Given the description of an element on the screen output the (x, y) to click on. 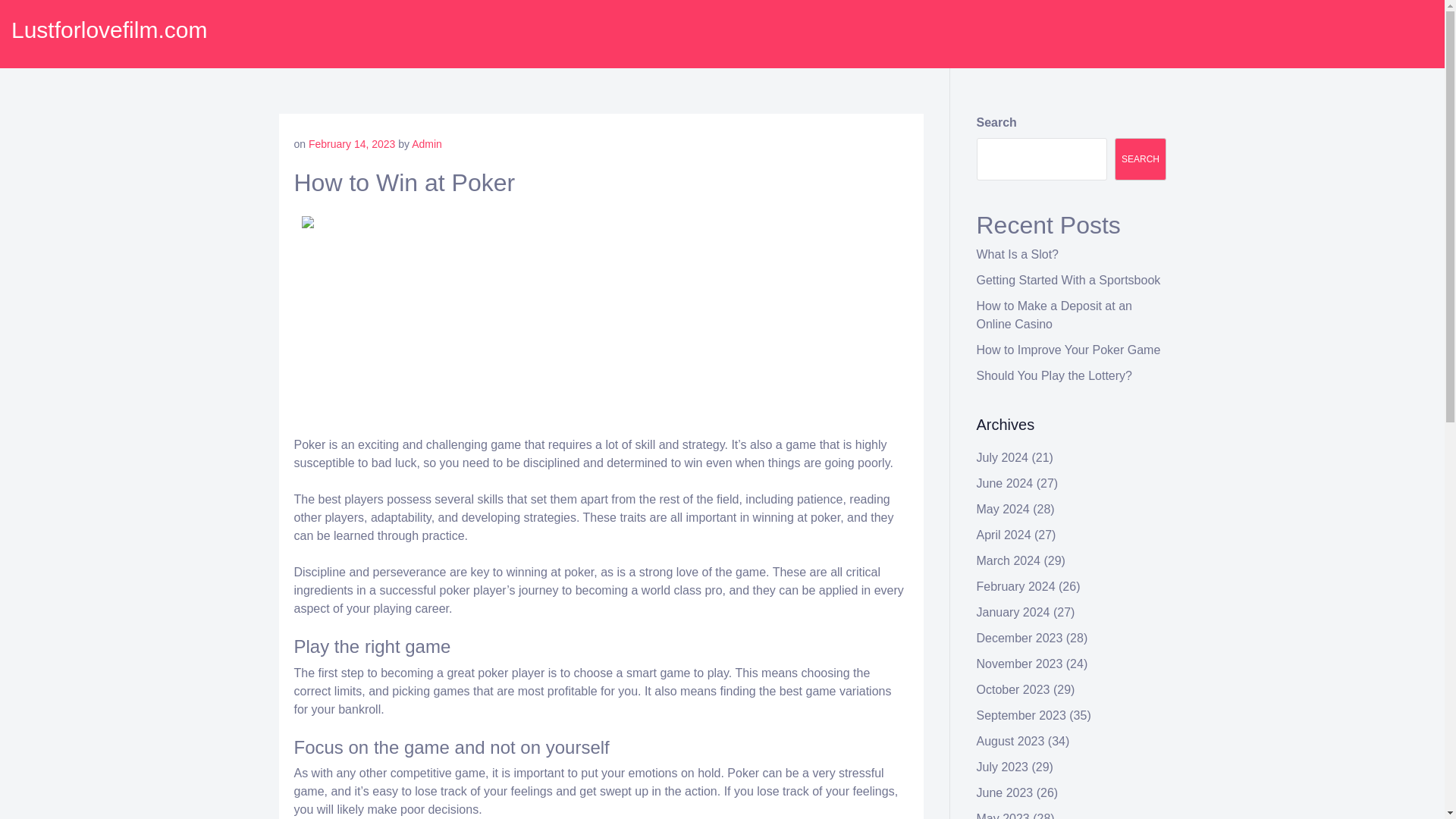
How to Improve Your Poker Game (1068, 349)
October 2023 (1012, 689)
January 2024 (1012, 612)
SEARCH (1140, 159)
June 2024 (1004, 482)
August 2023 (1010, 740)
How to Make a Deposit at an Online Casino (1054, 314)
April 2024 (1003, 534)
February 14, 2023 (351, 143)
May 2023 (1002, 815)
December 2023 (1019, 637)
September 2023 (1020, 715)
Admin (427, 143)
February 2024 (1015, 585)
March 2024 (1008, 560)
